Given the description of an element on the screen output the (x, y) to click on. 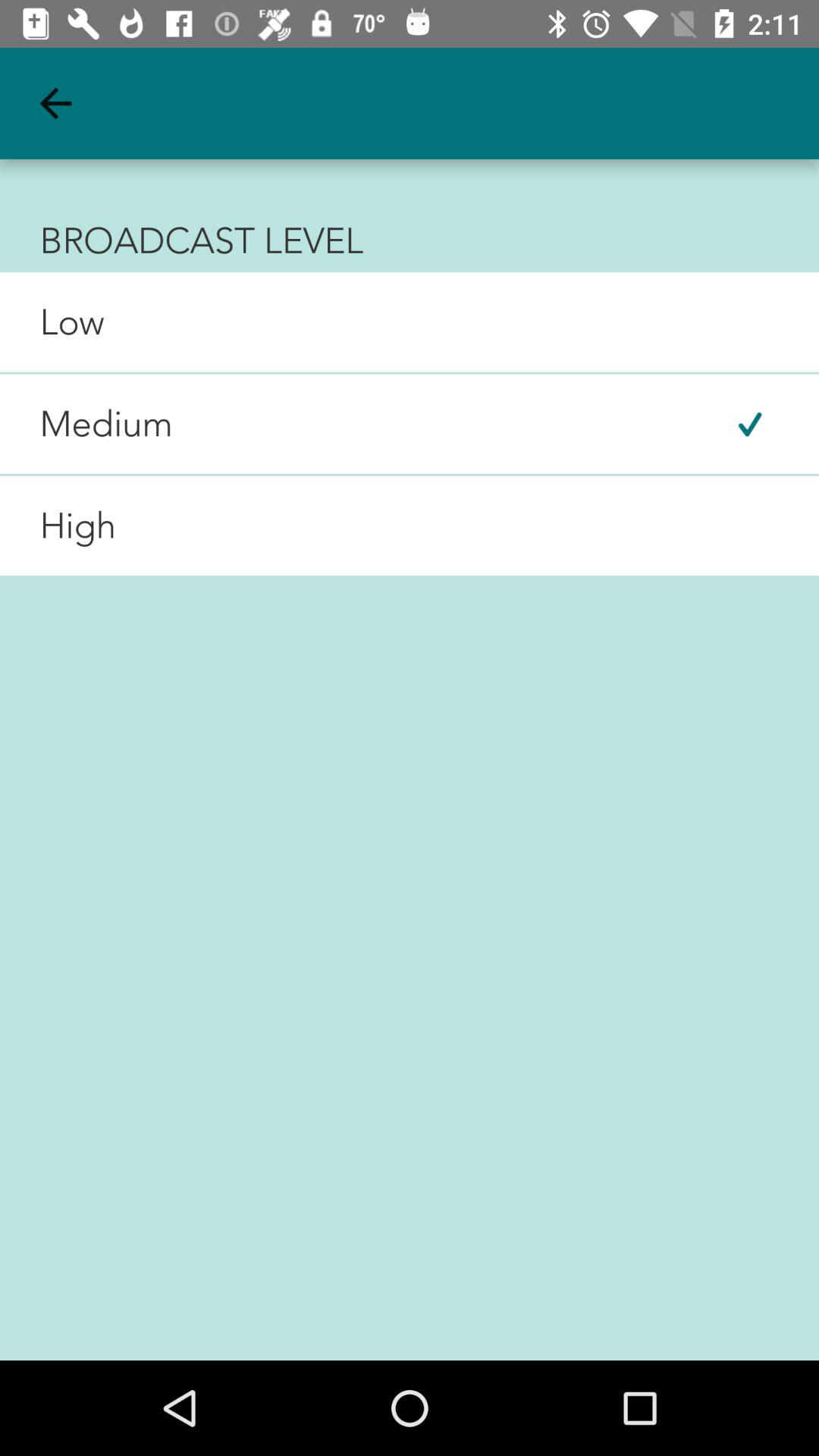
click the high item (58, 525)
